Given the description of an element on the screen output the (x, y) to click on. 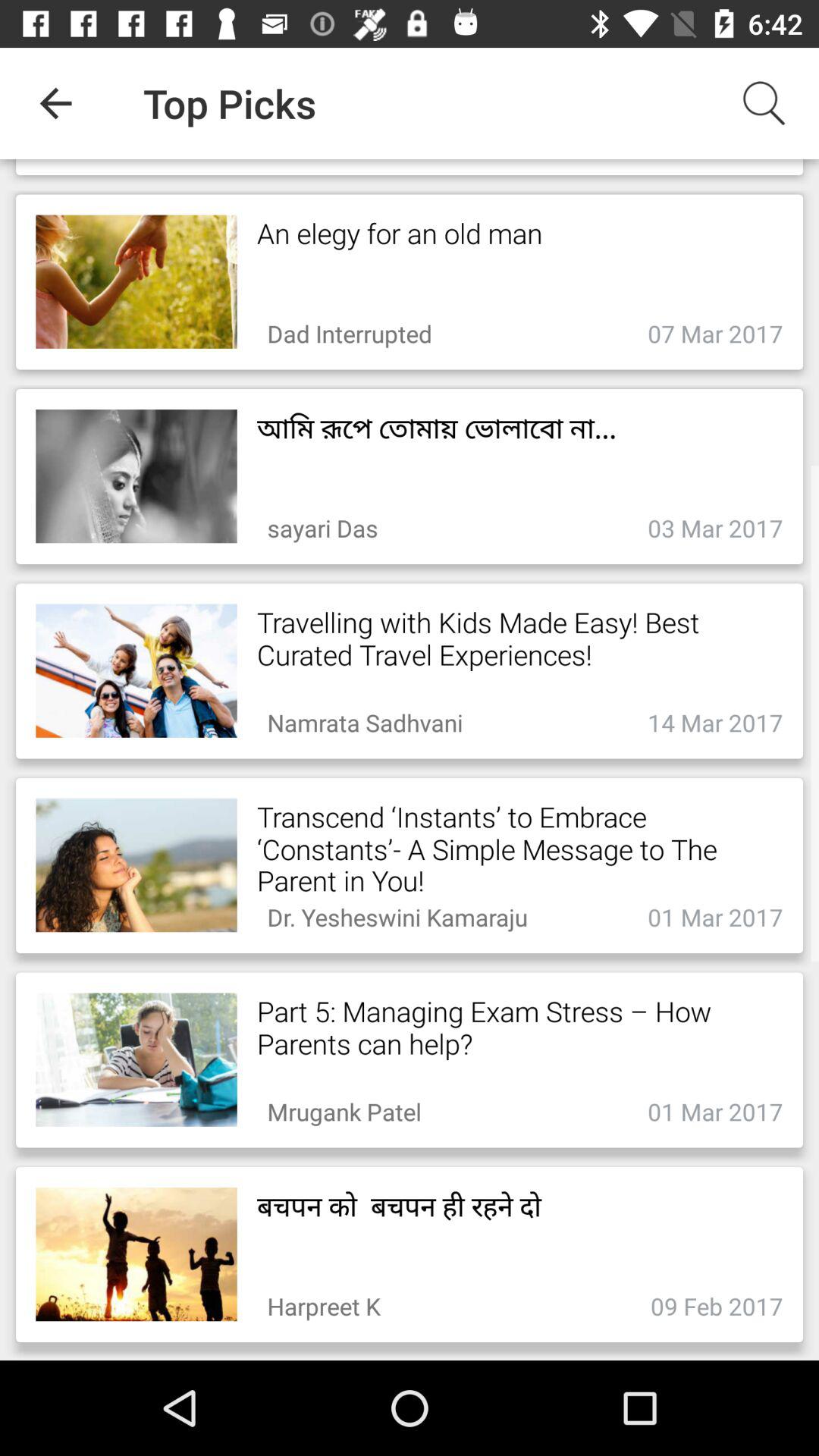
turn off the item to the left of the top picks item (55, 103)
